Given the description of an element on the screen output the (x, y) to click on. 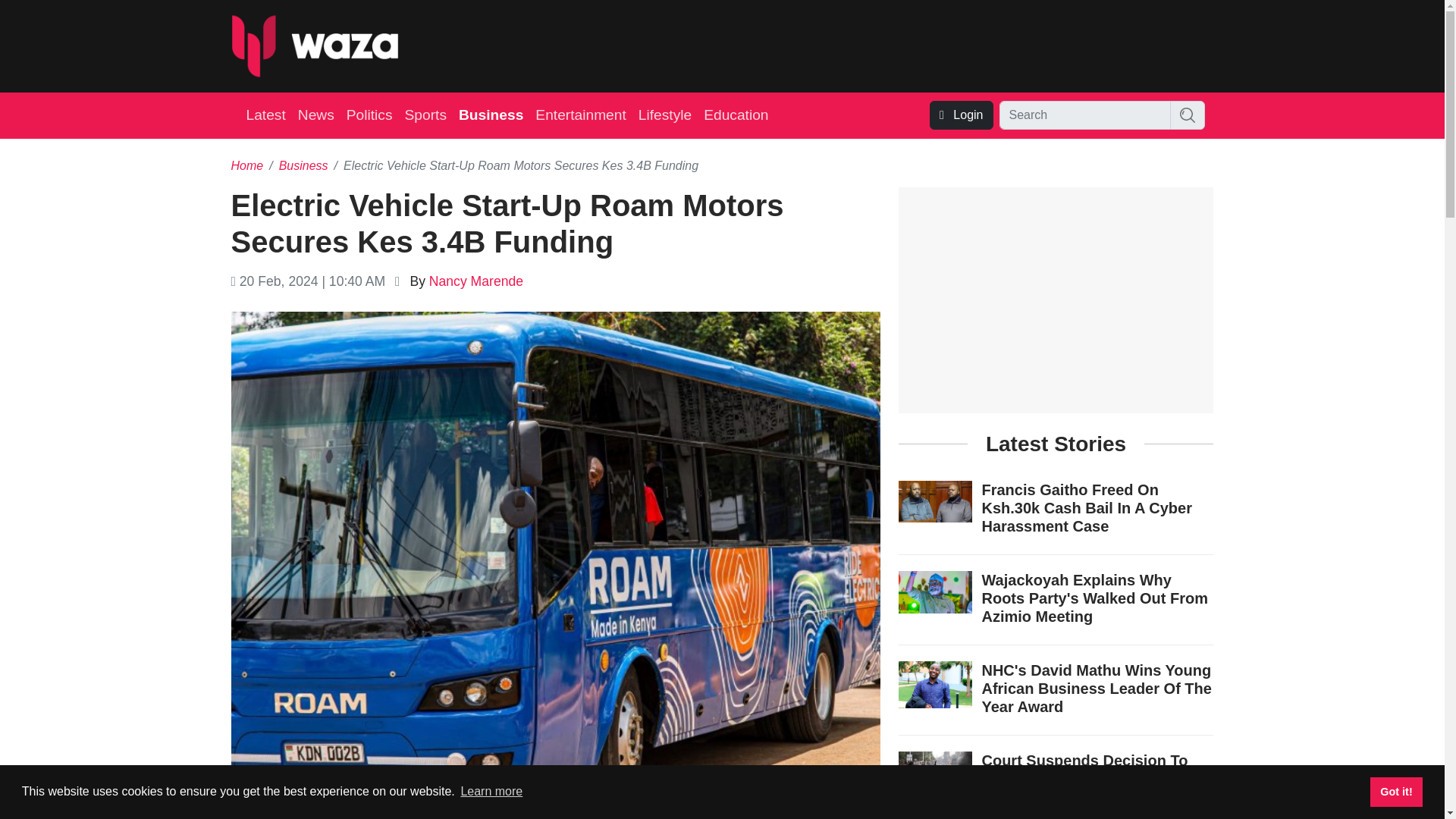
Nancy Marende (475, 281)
Lifestyle (664, 115)
Education (735, 115)
Posts by Nancy Marende (475, 281)
Sports (425, 115)
Entertainment (580, 115)
Latest (265, 115)
Politics (369, 115)
3rd party ad content (936, 46)
Business (490, 115)
News (316, 115)
Got it! (1396, 791)
Login (961, 114)
Business (304, 164)
Home (246, 164)
